Given the description of an element on the screen output the (x, y) to click on. 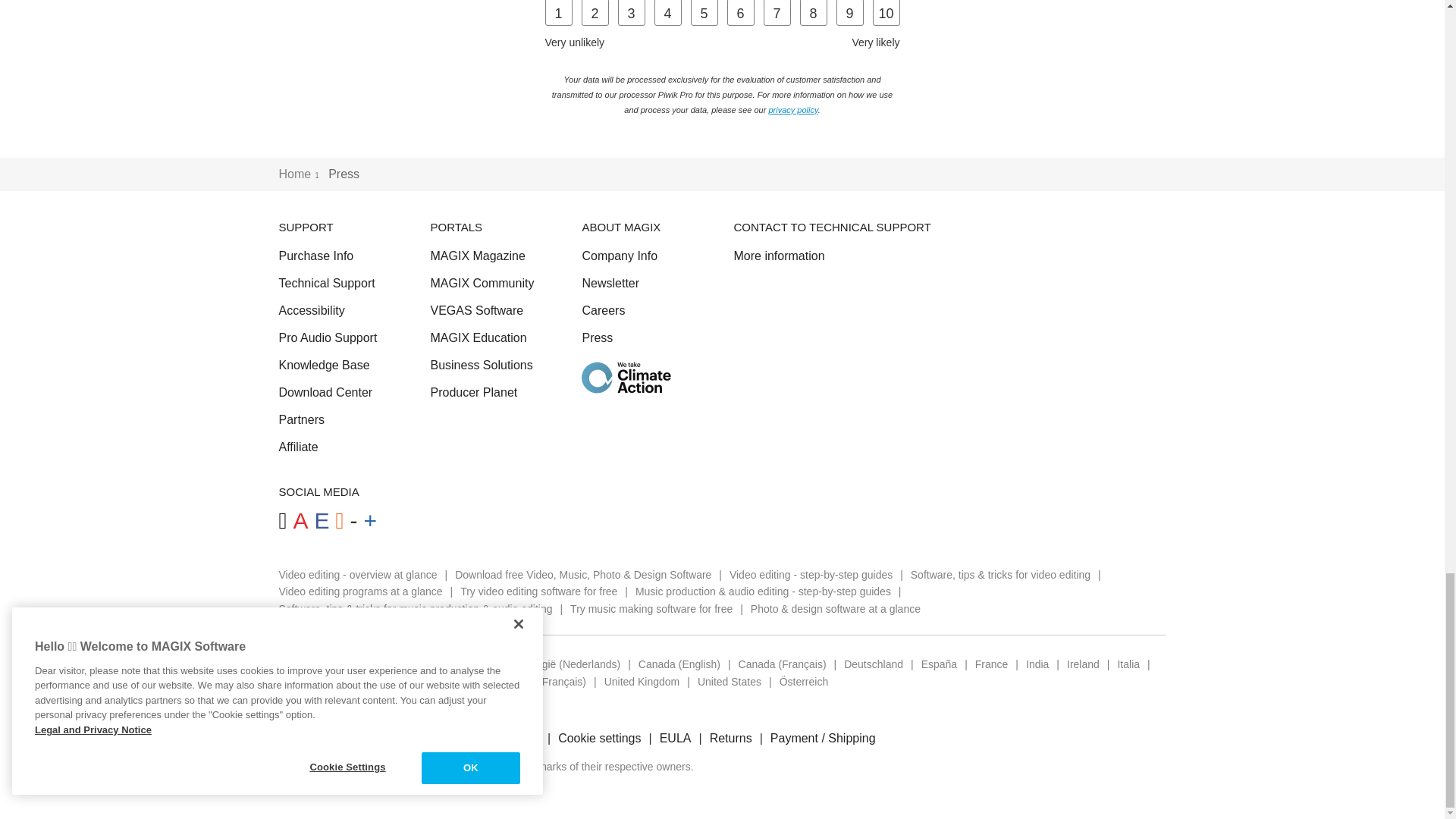
Leaders For Climate Action (625, 377)
